Given the description of an element on the screen output the (x, y) to click on. 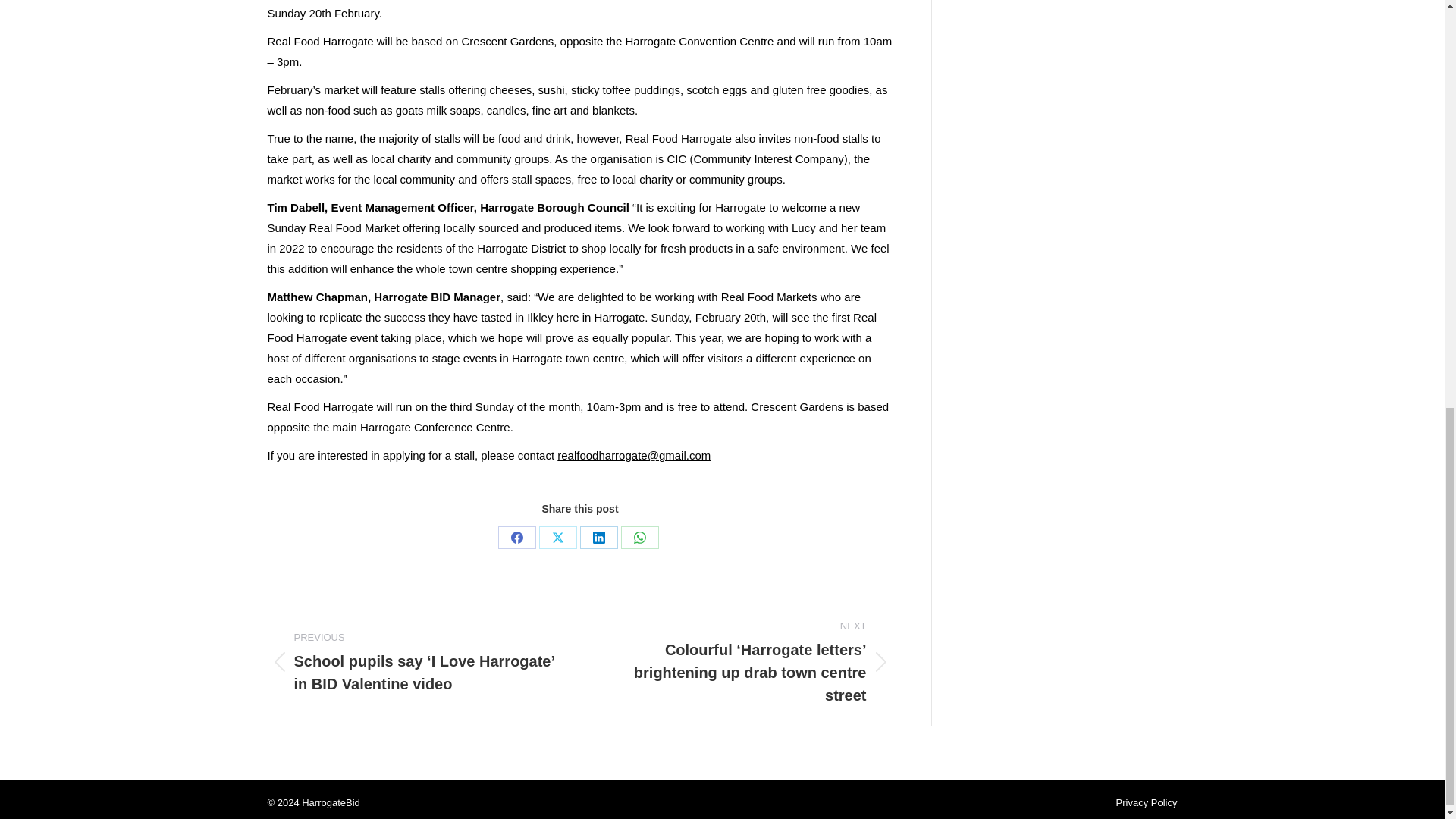
LinkedIn (598, 537)
WhatsApp (640, 537)
Facebook (516, 537)
X (557, 537)
